Given the description of an element on the screen output the (x, y) to click on. 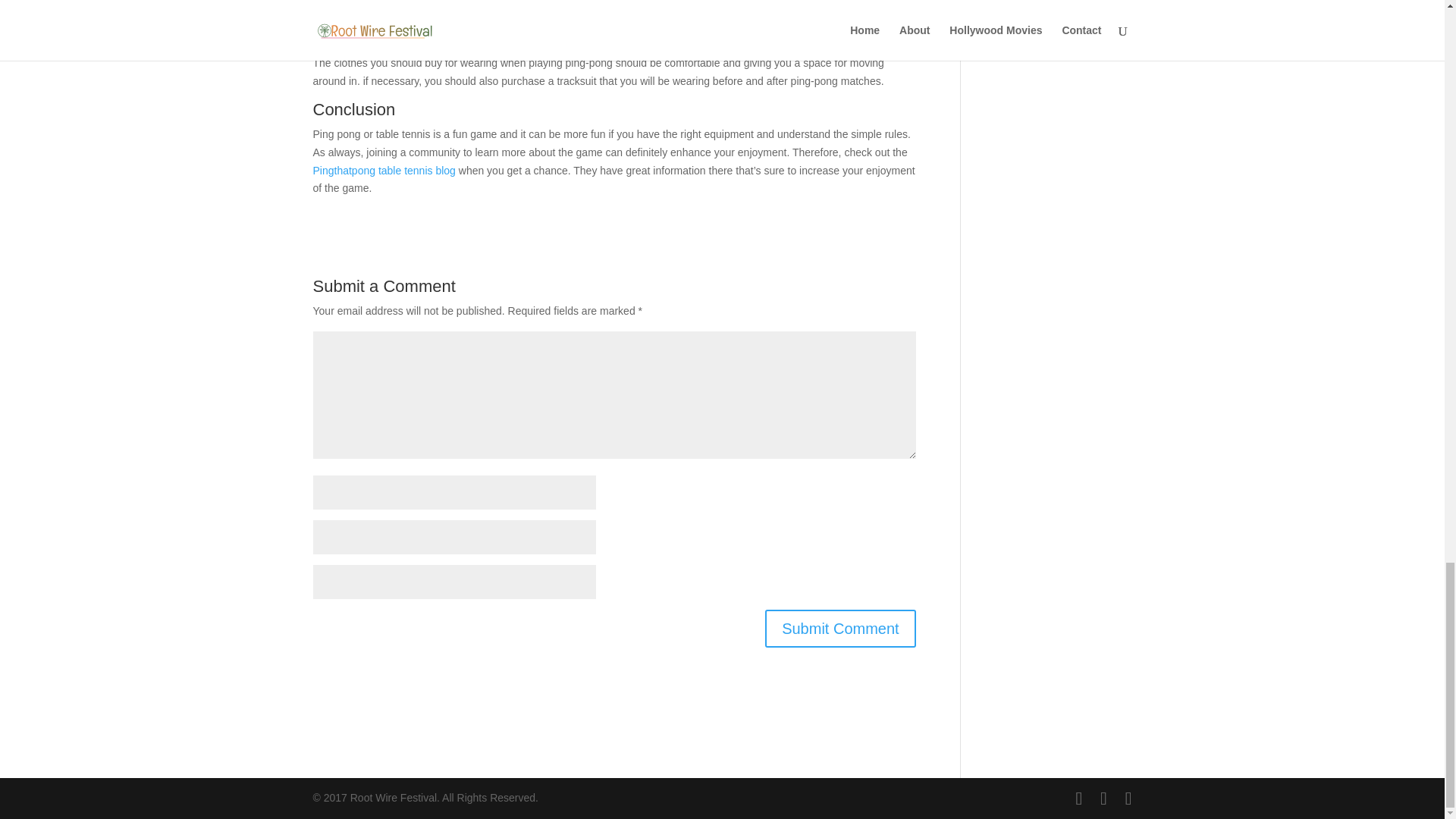
Submit Comment (840, 628)
Submit Comment (840, 628)
Pingthatpong table tennis blog (383, 170)
